Given the description of an element on the screen output the (x, y) to click on. 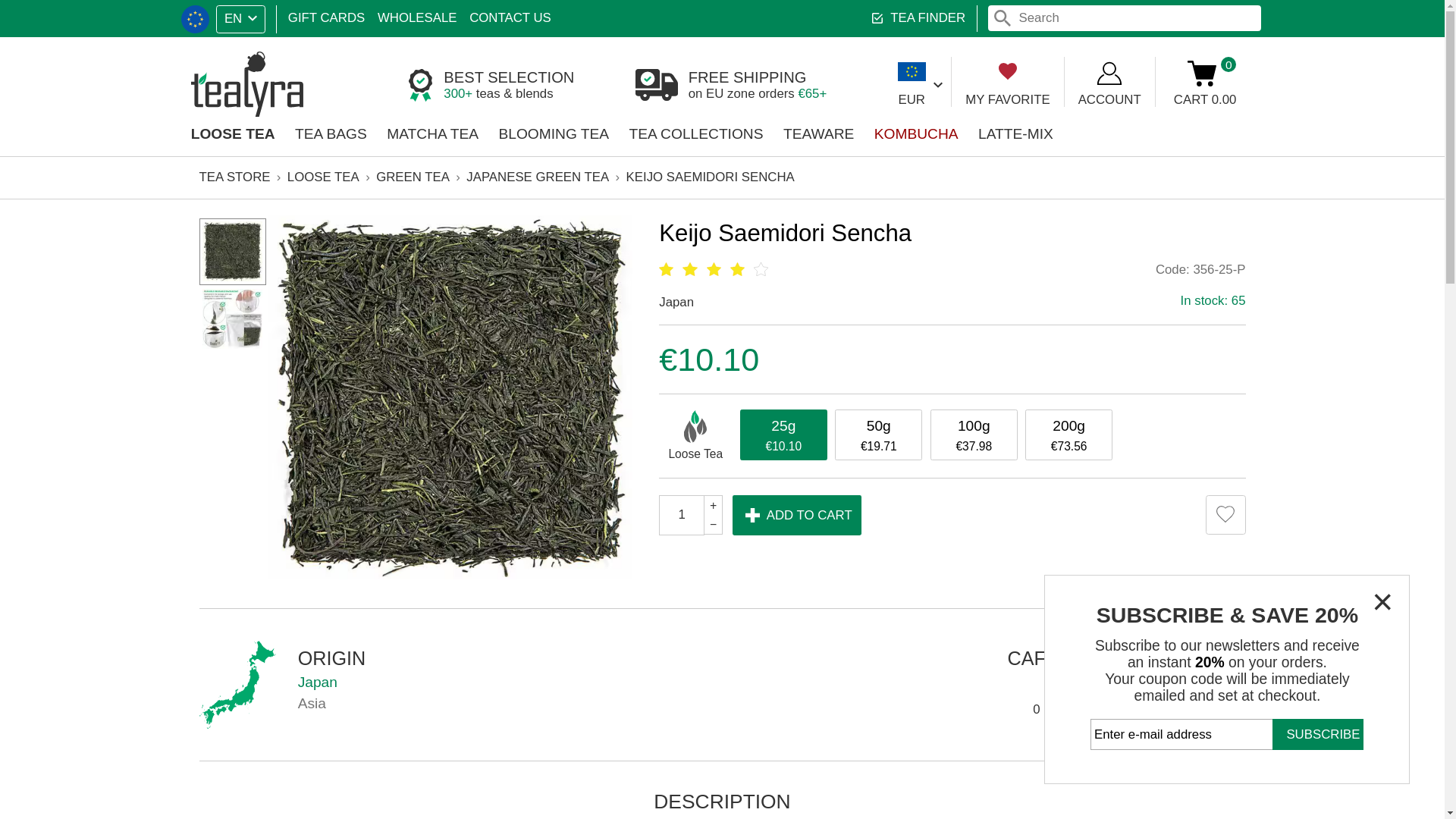
EU (162, 15)
GIFT CARDS (272, 15)
1 (567, 428)
WHOLESALE (347, 15)
CONTACT US (425, 15)
ACCOUNT (924, 68)
Tealyra Europe (207, 70)
Enter e-mail address (1022, 611)
MY FAVORITE (839, 68)
EUR (1004, 68)
TEA FINDER (759, 70)
EN (764, 15)
